Given the description of an element on the screen output the (x, y) to click on. 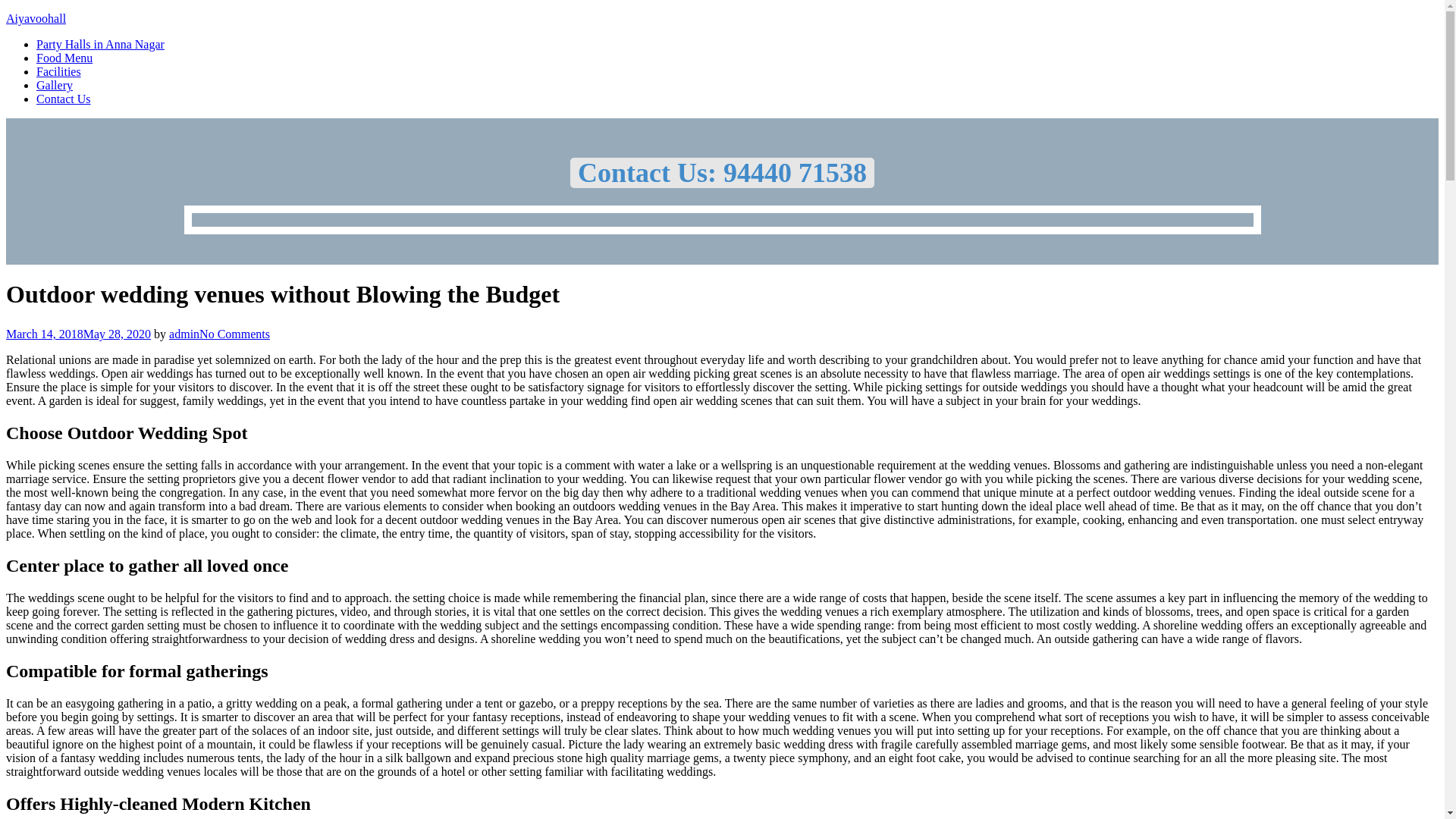
Aiyavoohall (35, 18)
Contact Us (63, 98)
March 14, 2018May 28, 2020 (78, 333)
No Comments (234, 333)
Gallery (54, 84)
Aiyavoohall (35, 18)
admin (183, 333)
Party Halls in Anna Nagar (100, 43)
Food Menu (64, 57)
Facilities (58, 71)
